Given the description of an element on the screen output the (x, y) to click on. 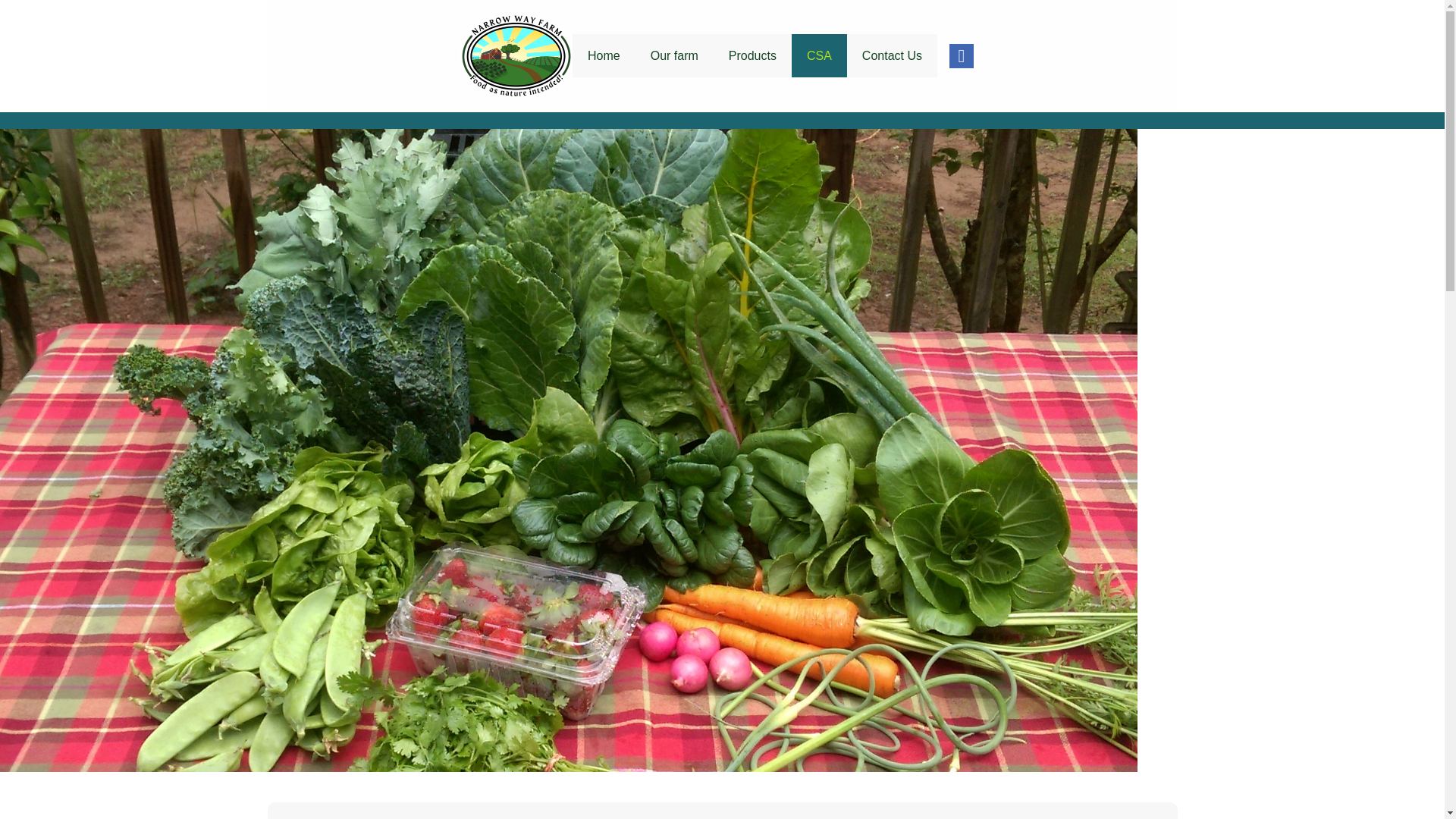
Products (752, 55)
Home (603, 55)
Our farm (673, 55)
CSA (819, 55)
Contact Us (892, 55)
